Given the description of an element on the screen output the (x, y) to click on. 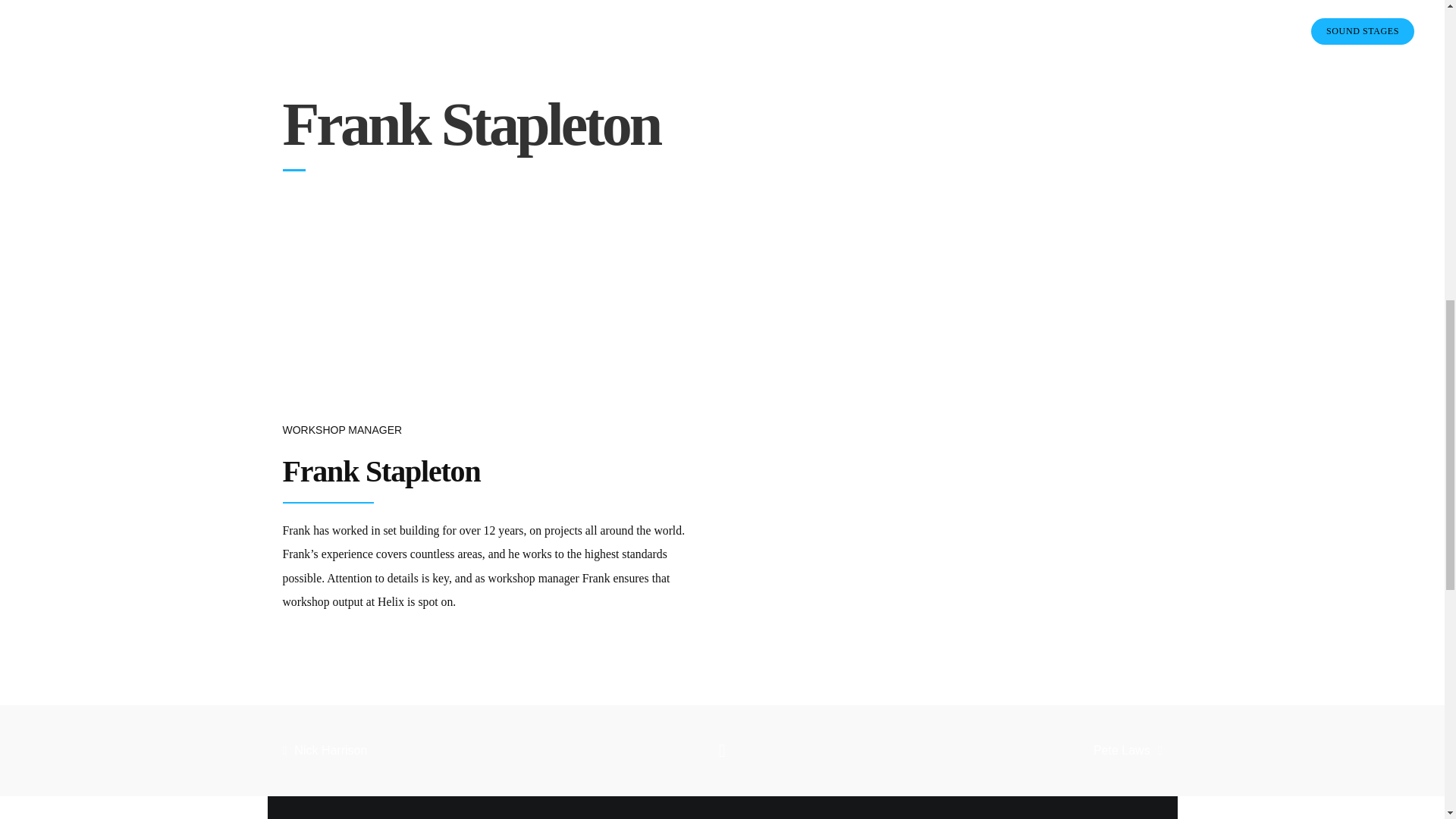
Pete Laws (1020, 750)
Nick Harrison (423, 750)
